Given the description of an element on the screen output the (x, y) to click on. 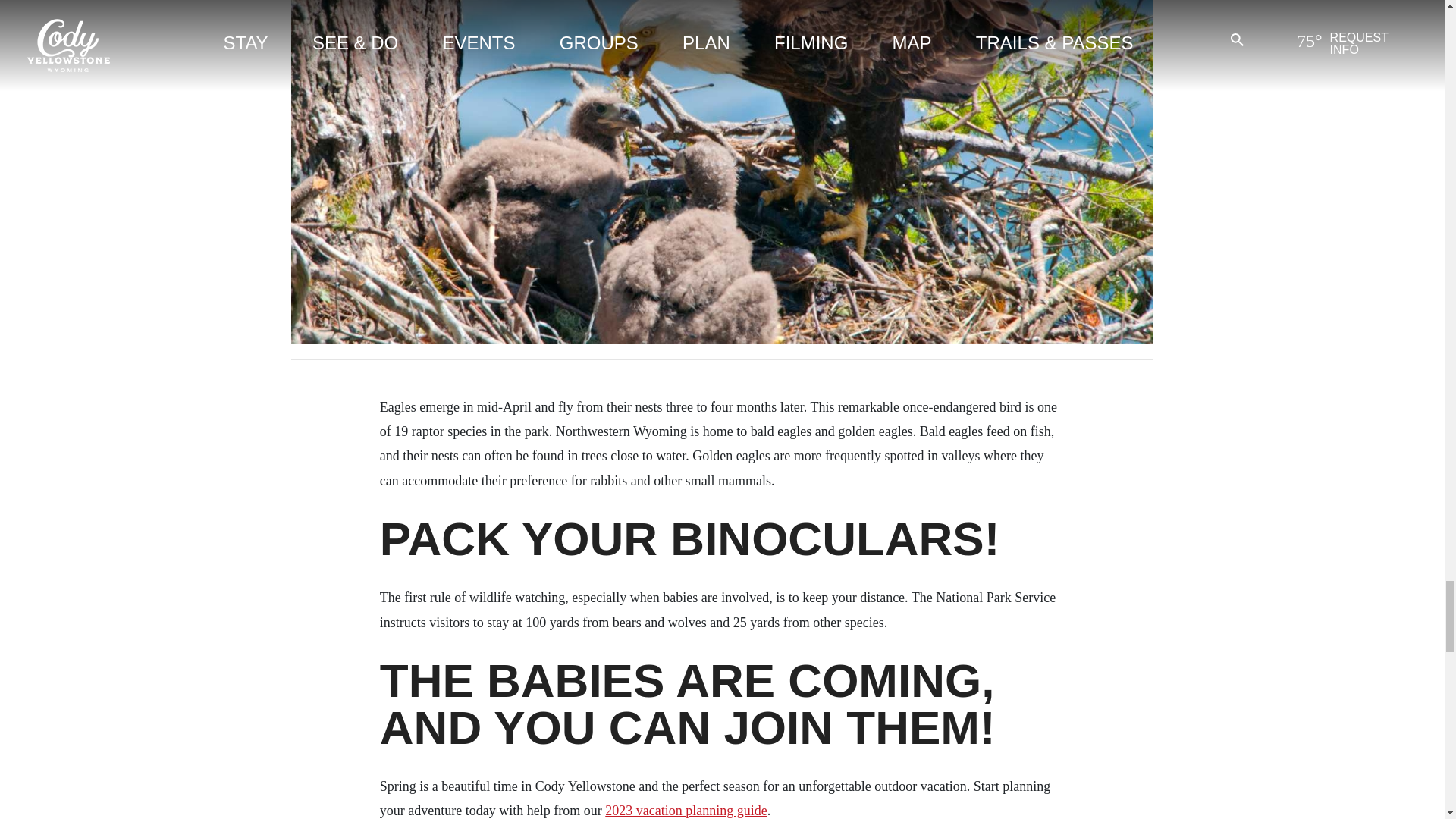
2023 vacation planning guide (686, 810)
